Given the description of an element on the screen output the (x, y) to click on. 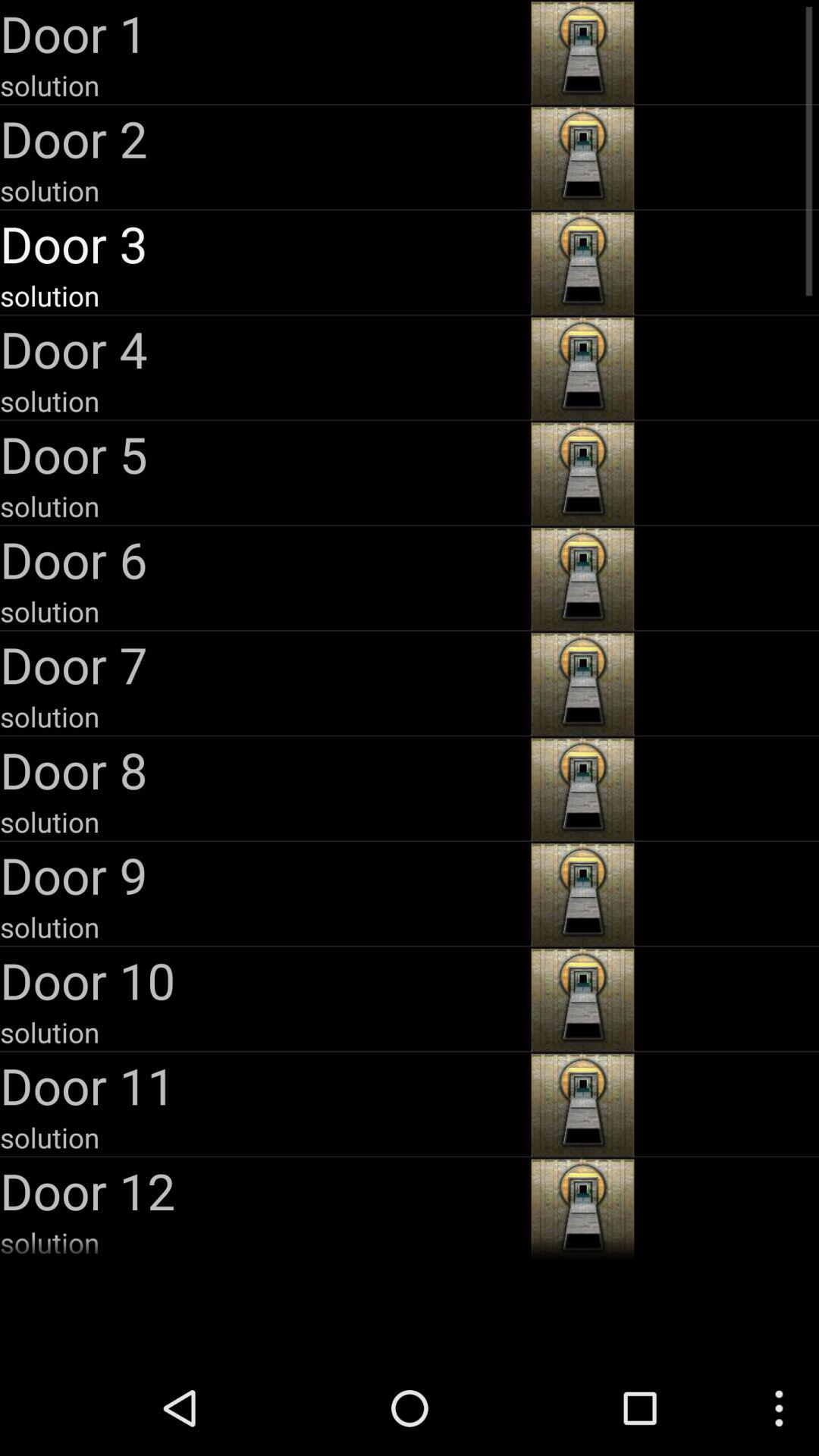
flip until door 11 (263, 1085)
